Given the description of an element on the screen output the (x, y) to click on. 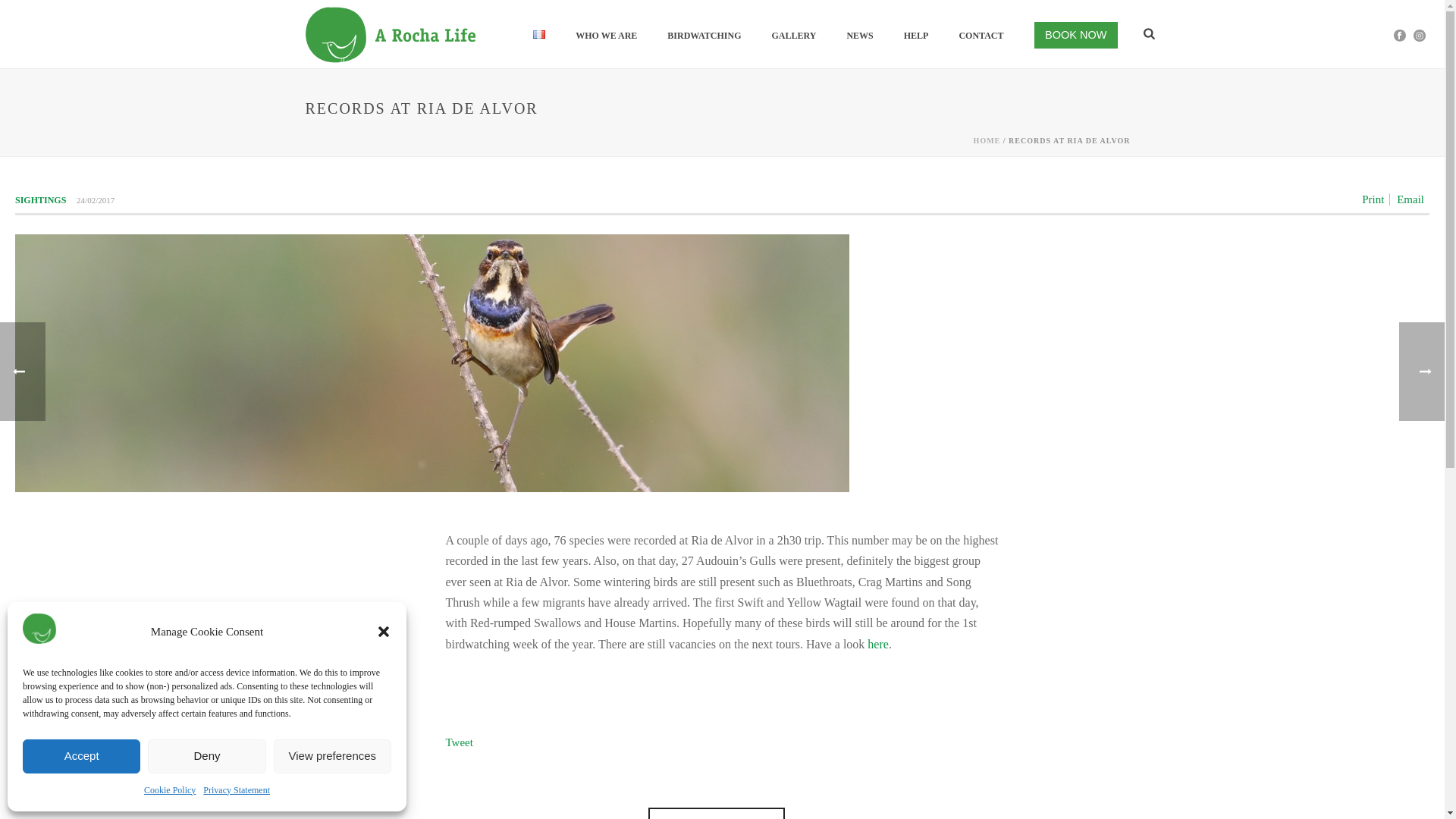
Deny (206, 755)
BIRDWATCHING (703, 35)
ALL NEWS (715, 813)
Cookie Policy (169, 790)
HELP (915, 35)
WHO WE ARE (606, 35)
GALLERY (793, 35)
CONTACT (980, 35)
A Rocha Life (439, 34)
NEWS (859, 35)
Accept (81, 755)
Privacy Statement (236, 790)
GALLERY (793, 35)
BIRDWATCHING (703, 35)
